Given the description of an element on the screen output the (x, y) to click on. 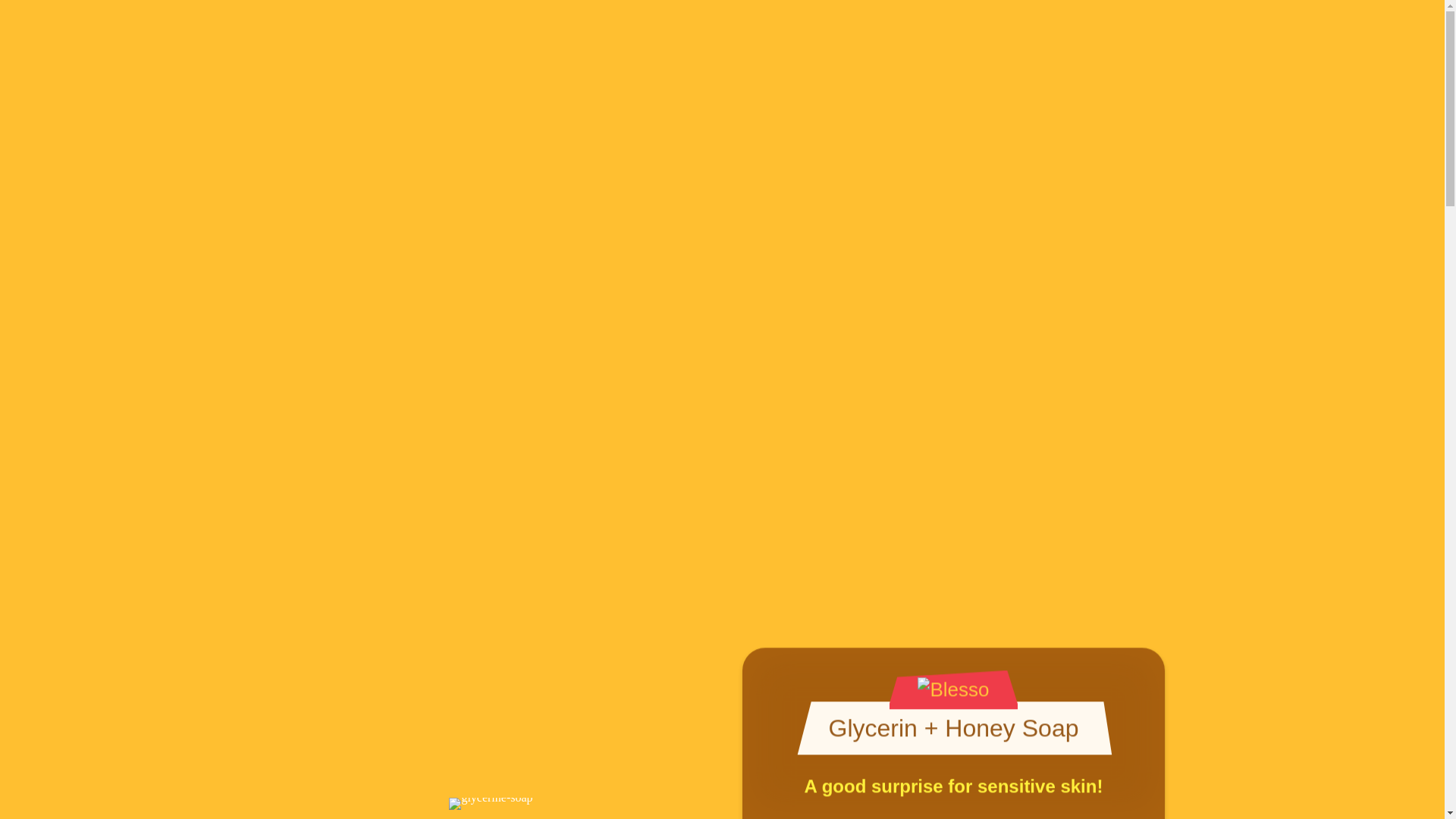
BUY NOW (573, 709)
CONTACT US (861, 709)
CORPORATE (713, 709)
